Given the description of an element on the screen output the (x, y) to click on. 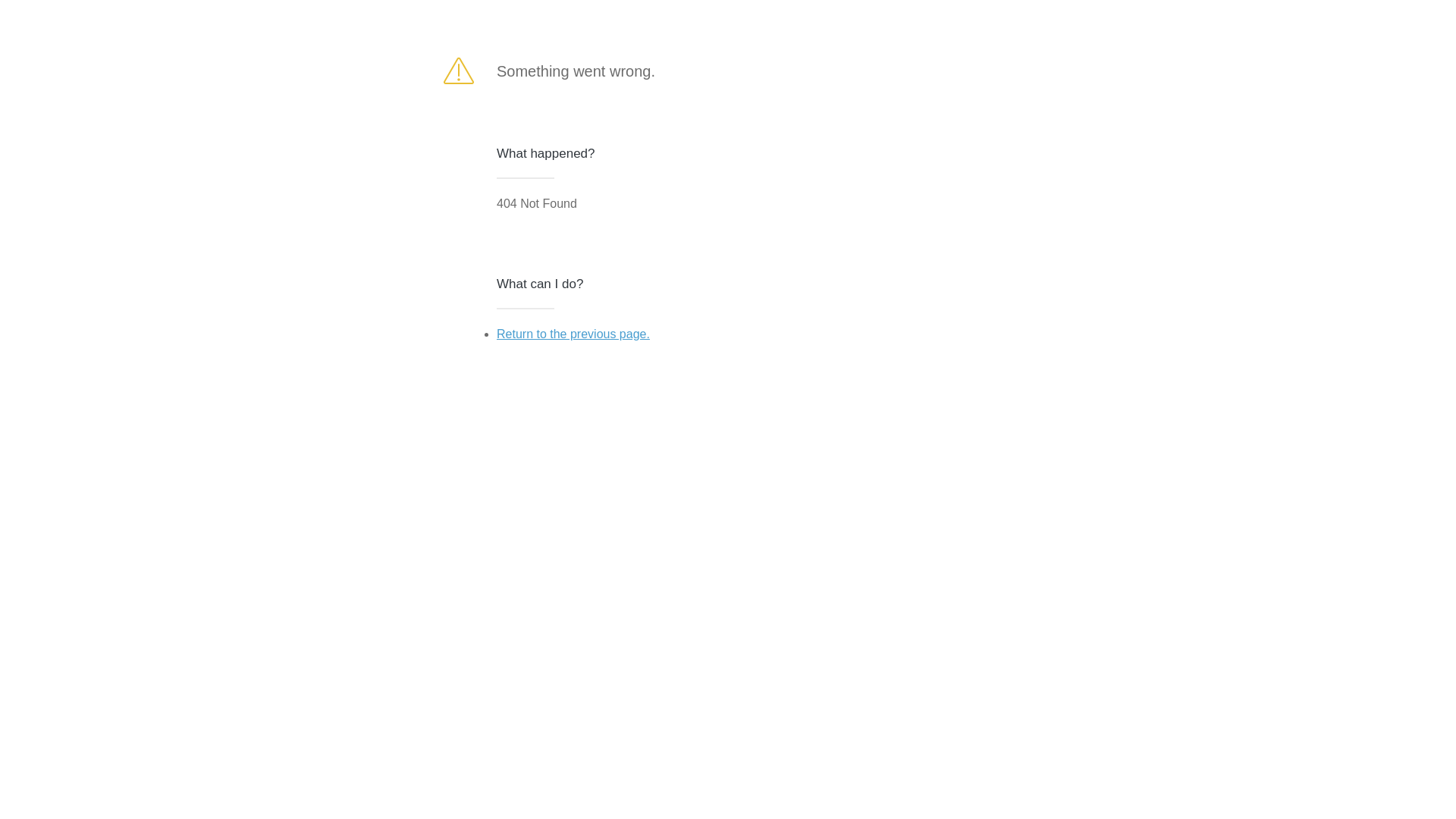
Return to the previous page. Element type: text (572, 333)
